Given the description of an element on the screen output the (x, y) to click on. 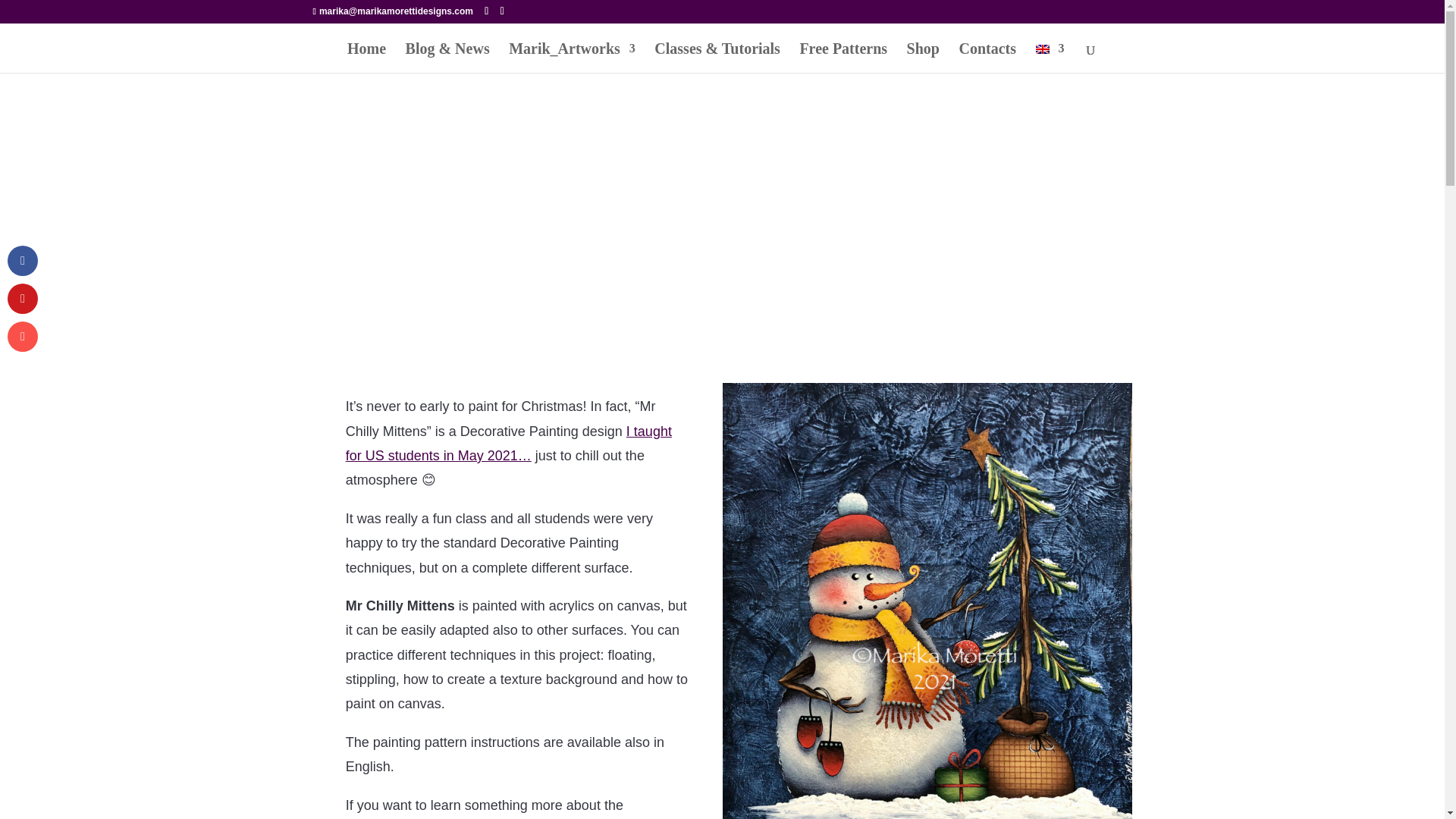
Free Patterns (842, 57)
Shop (923, 57)
Contacts (987, 57)
Home (366, 57)
